Given the description of an element on the screen output the (x, y) to click on. 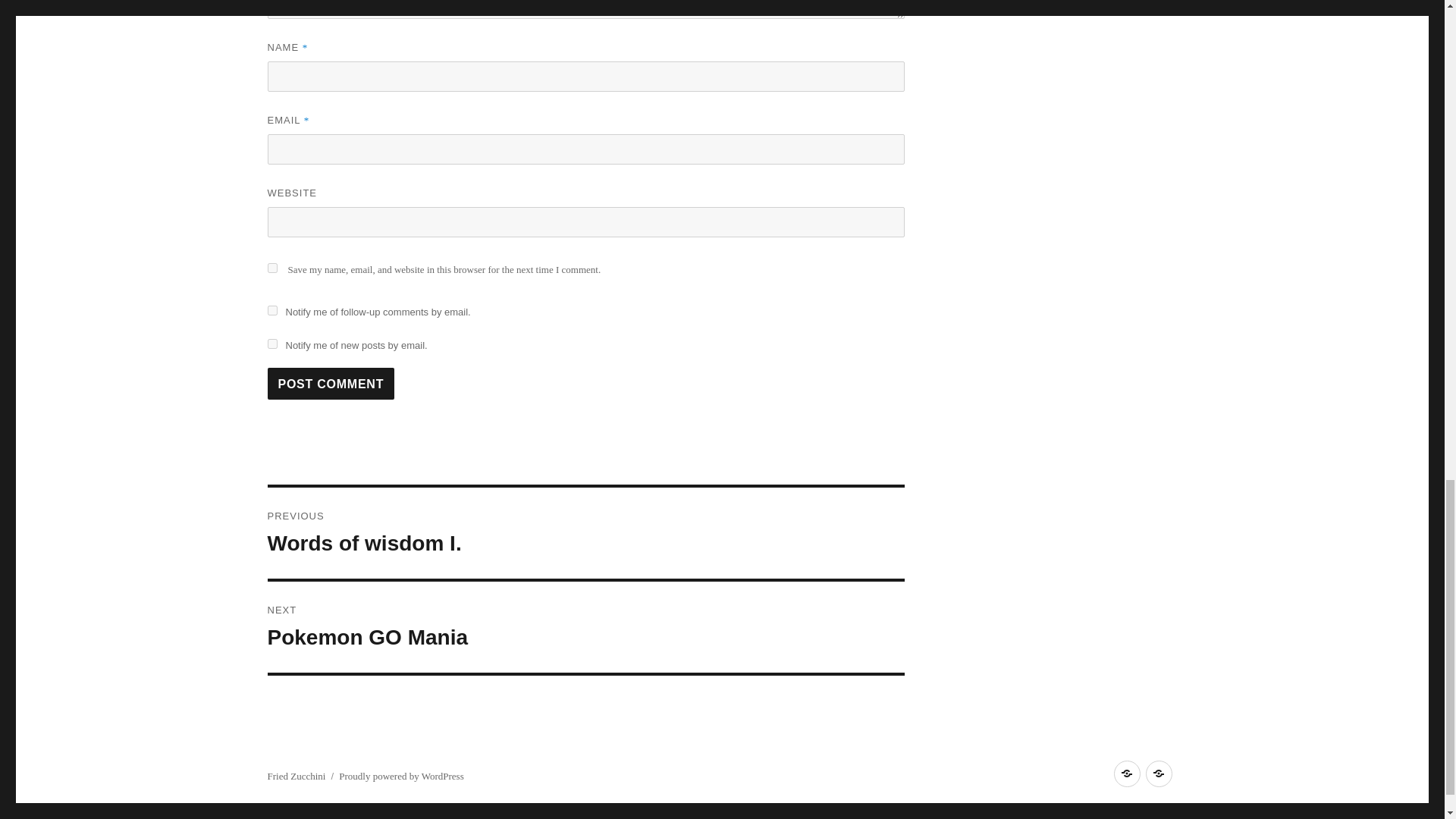
Fried Zucchini (295, 776)
Post Comment (330, 383)
yes (271, 267)
subscribe (271, 343)
Post Comment (330, 383)
Who am I? (585, 626)
subscribe (585, 532)
Blog (1126, 773)
